Given the description of an element on the screen output the (x, y) to click on. 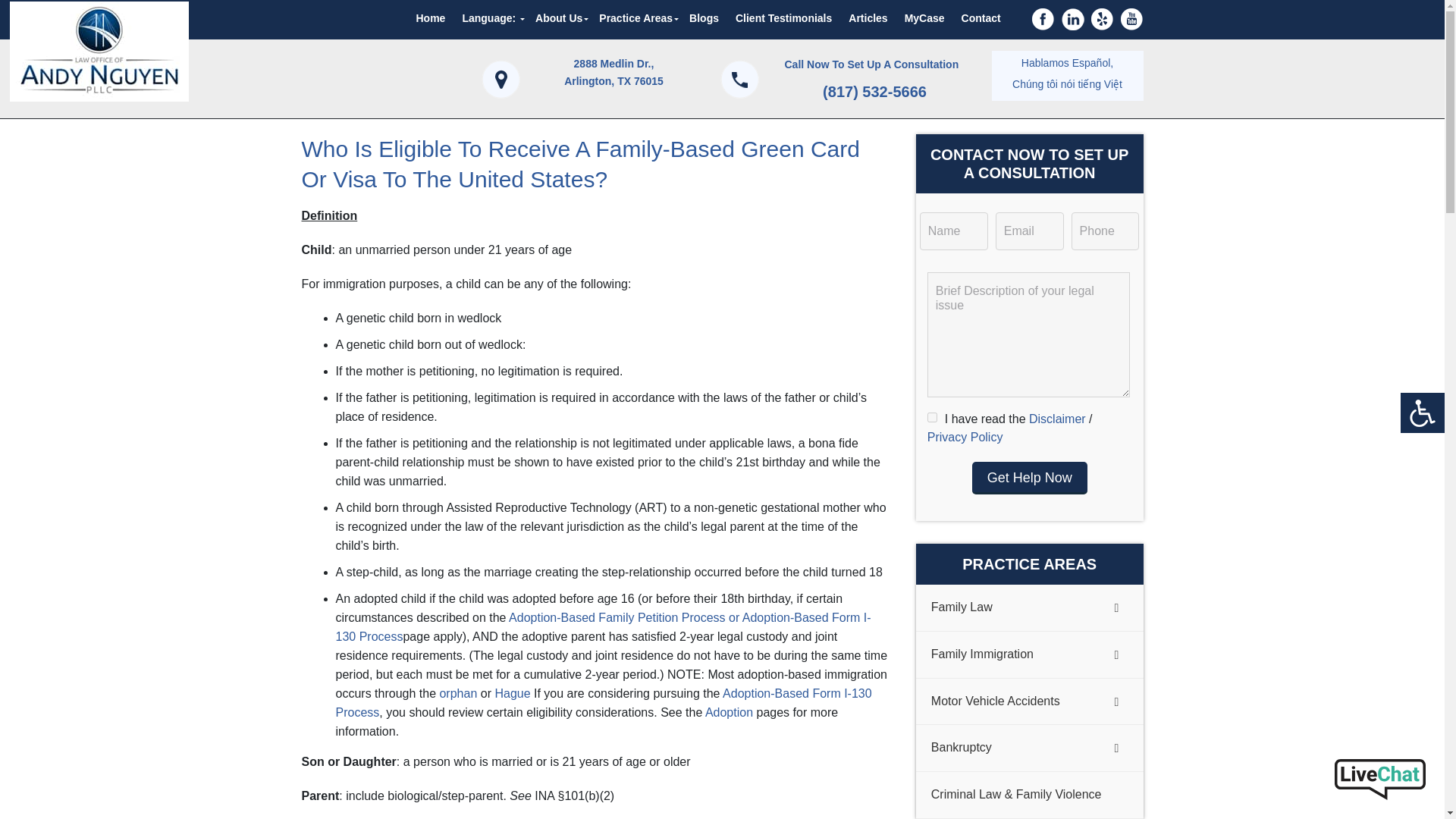
Blogs (703, 18)
Language:  (489, 18)
Home (430, 18)
yes (932, 417)
English (489, 18)
Client Testimonials (783, 18)
About Us (559, 18)
Practice Areas (636, 18)
Articles (867, 18)
MyCase (924, 18)
